Given the description of an element on the screen output the (x, y) to click on. 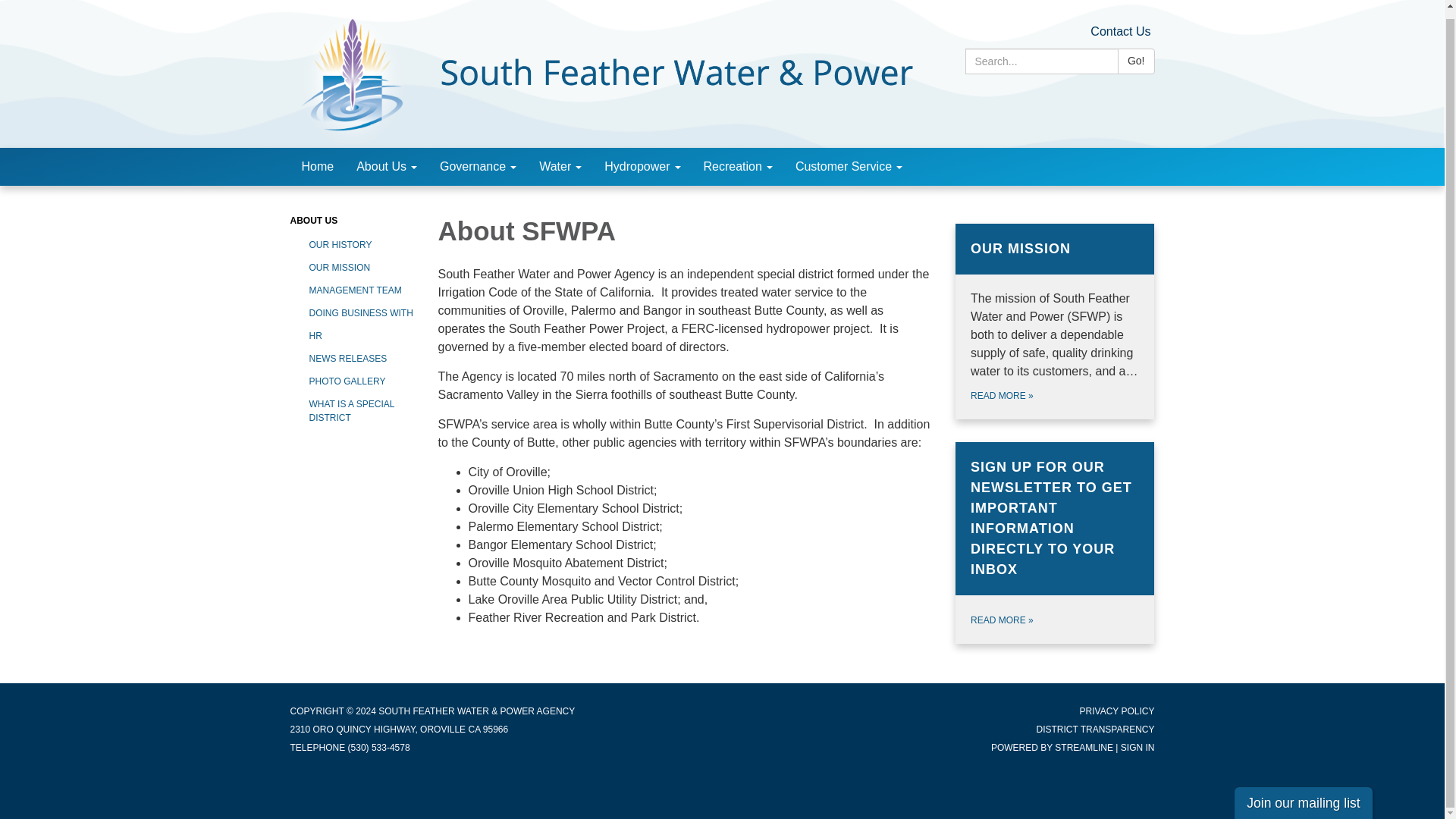
Streamline: Technology for Special Districts (1083, 747)
Governance (477, 166)
Go! (1136, 61)
About Us (386, 166)
Hydropower (641, 166)
Special District Transparency Report (1094, 728)
Home (317, 166)
Water (559, 166)
Contact Us (1119, 31)
